Given the description of an element on the screen output the (x, y) to click on. 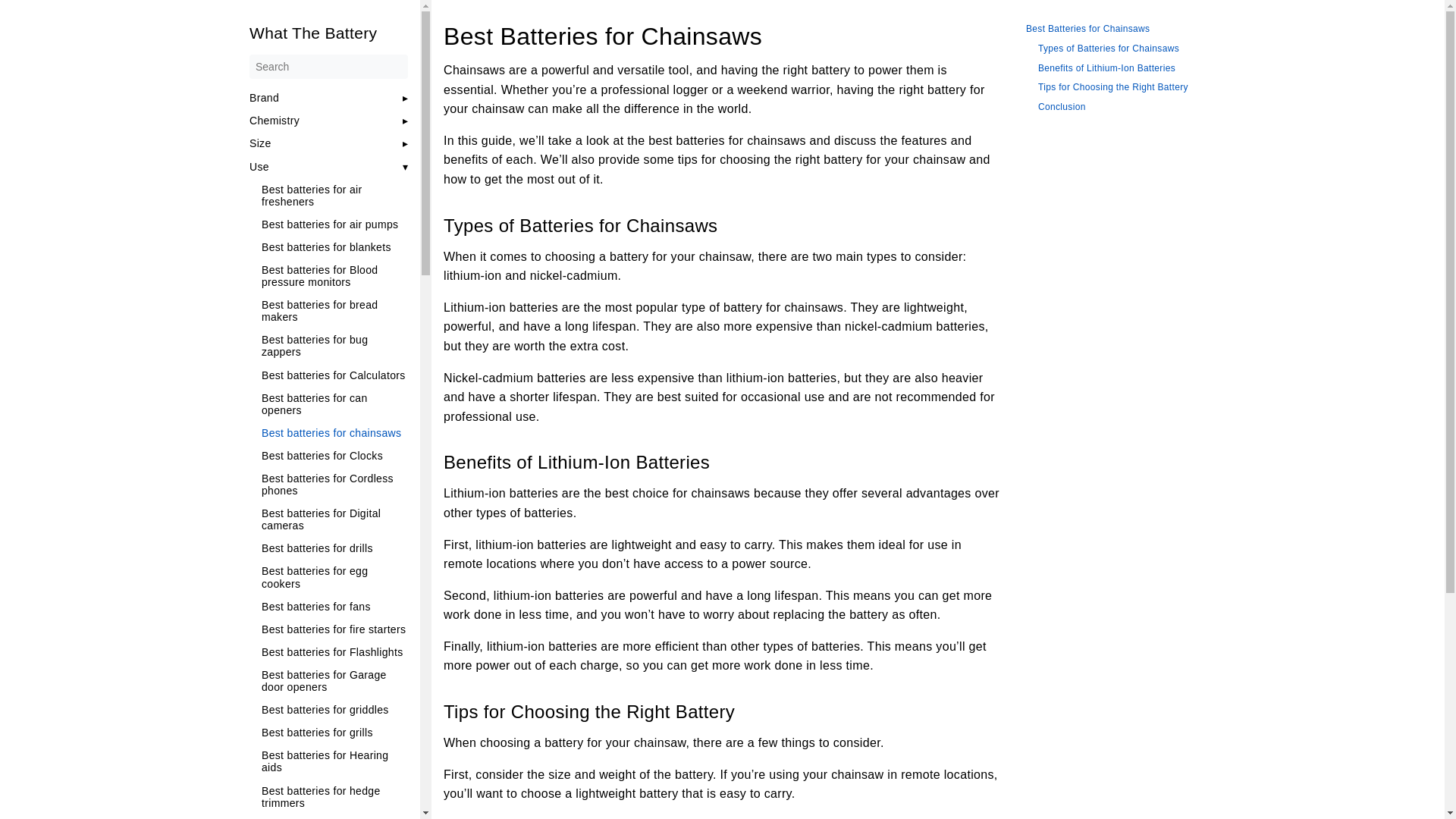
Brand (263, 97)
What The Battery (327, 33)
